Given the description of an element on the screen output the (x, y) to click on. 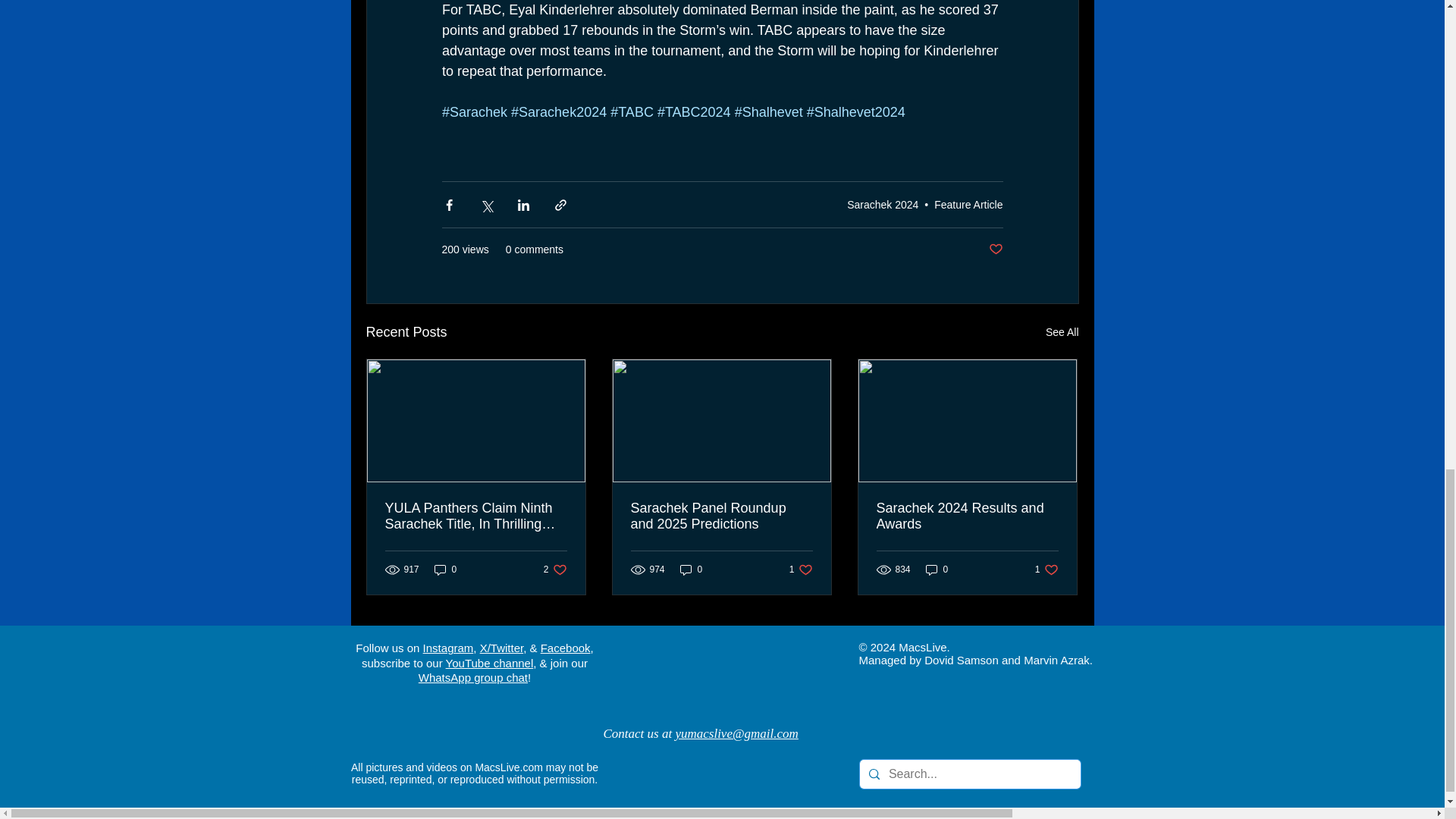
Sarachek Panel Roundup and 2025 Predictions (800, 569)
0 (555, 569)
Sarachek 2024 (721, 516)
See All (445, 569)
0 (882, 204)
Feature Article (1061, 332)
Post not marked as liked (691, 569)
